Given the description of an element on the screen output the (x, y) to click on. 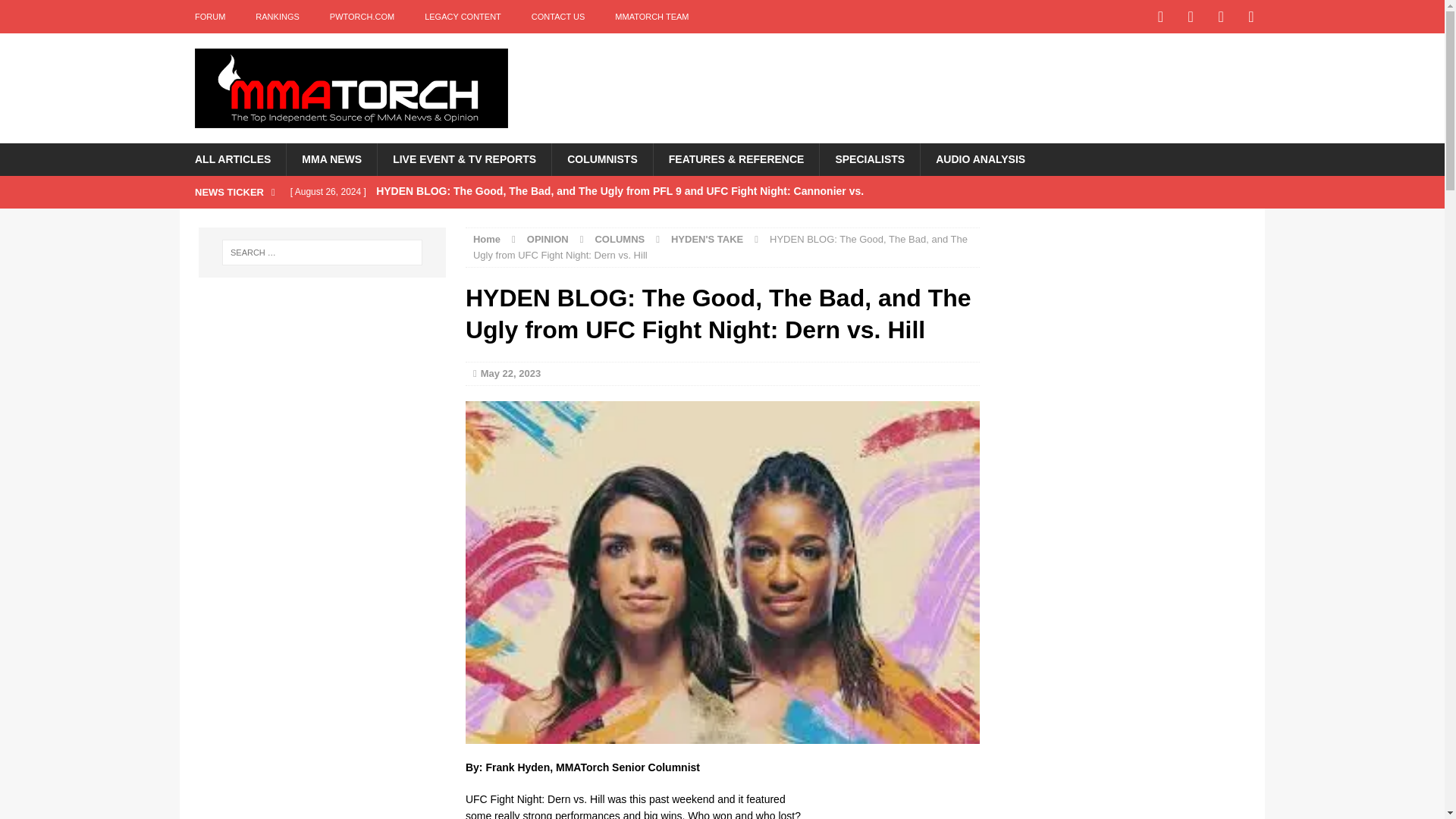
CONTACT US (557, 16)
MMATorch (350, 88)
MMA NEWS (331, 159)
RANKINGS (277, 16)
FORUM (209, 16)
COLUMNISTS (601, 159)
MMATORCH TEAM (651, 16)
LEGACY CONTENT (462, 16)
